Given the description of an element on the screen output the (x, y) to click on. 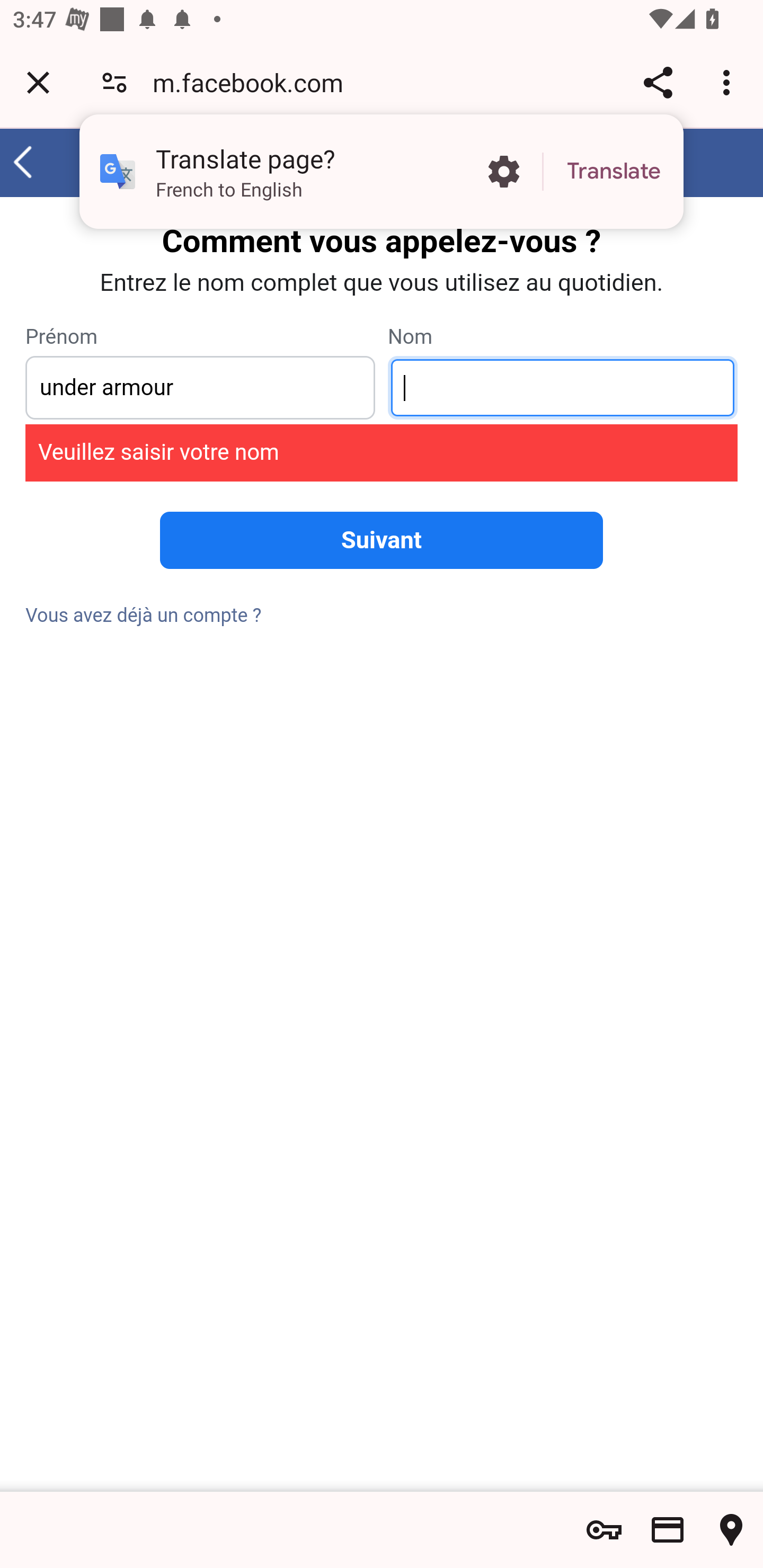
Close tab (38, 82)
Share (657, 82)
Customize and control Google Chrome (729, 82)
Connection is secure (114, 81)
m.facebook.com (254, 81)
Translate (613, 171)
More options in the Translate page? (503, 171)
under armour (200, 387)
Suivant (381, 540)
Vous avez déjà un compte ? (143, 615)
Show saved passwords and password options (603, 1530)
Show saved payment methods (667, 1530)
Show saved addresses (731, 1530)
